Given the description of an element on the screen output the (x, y) to click on. 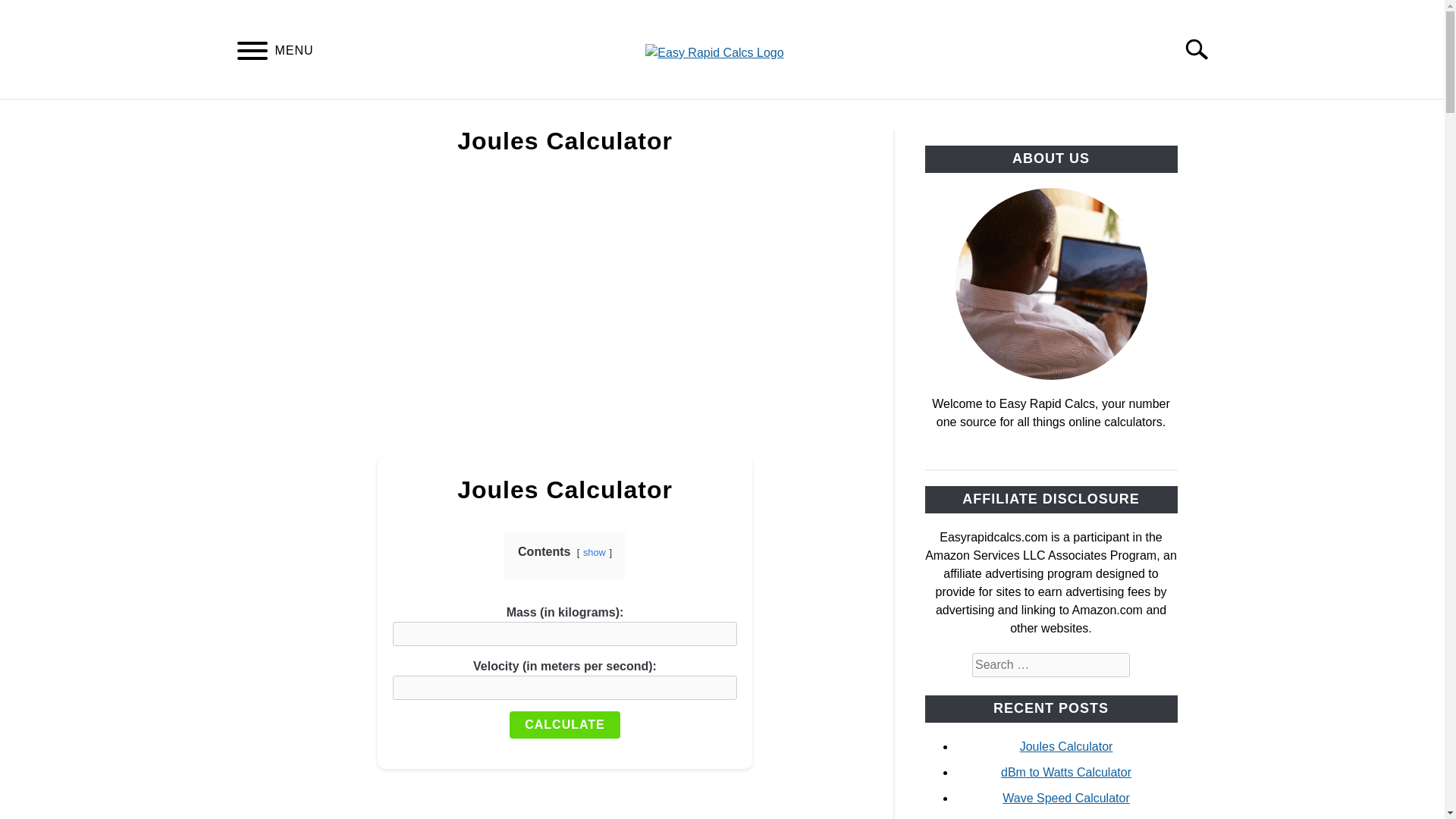
Impulse Calculator (1066, 818)
CALCULATE (564, 724)
Joules Calculator (1066, 746)
MENU (251, 53)
dBm to Watts Calculator (1066, 771)
Search (1203, 49)
Wave Speed Calculator (1066, 797)
show (594, 552)
